Given the description of an element on the screen output the (x, y) to click on. 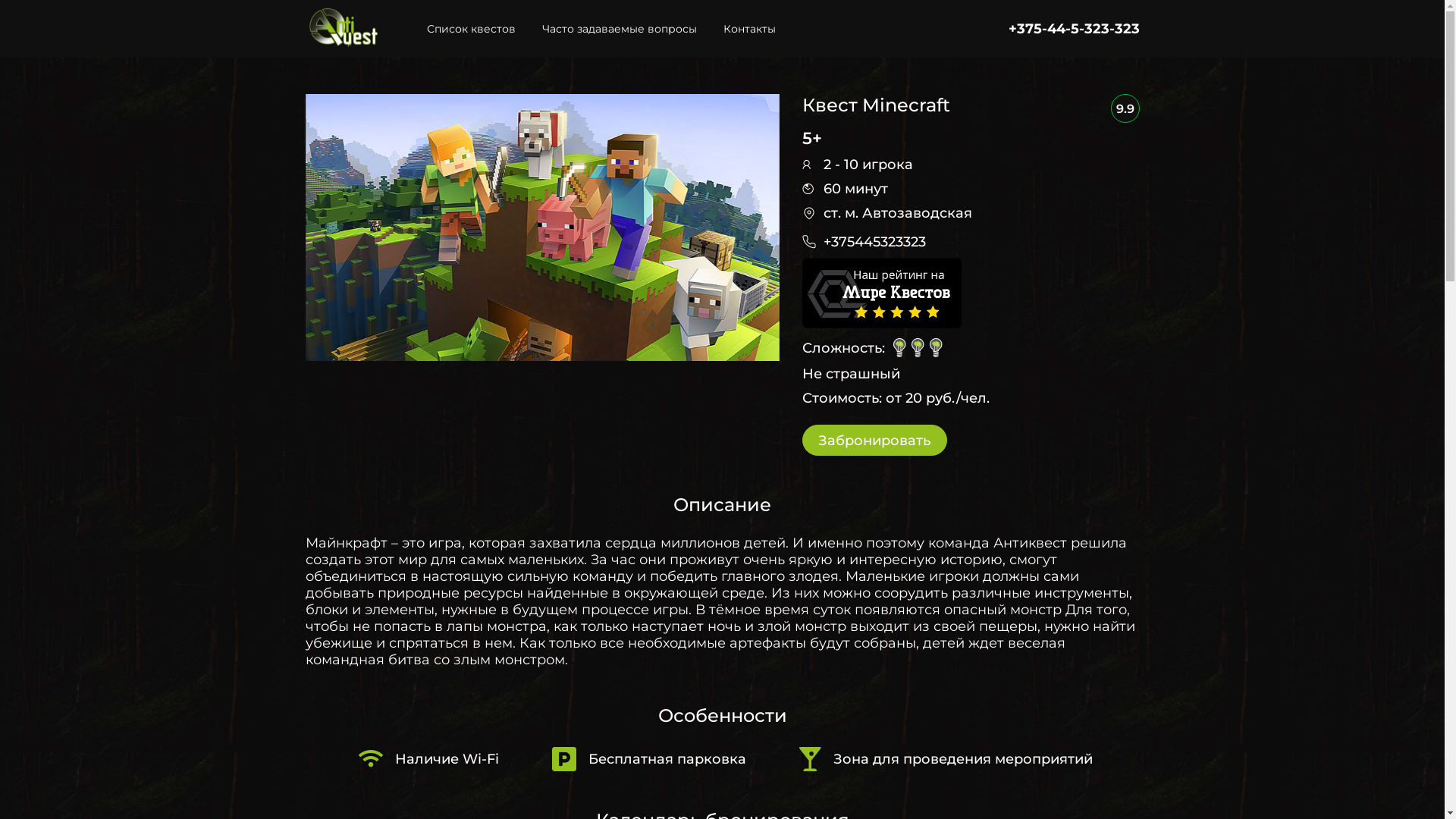
+375445323323 Element type: text (874, 241)
+375-44-5-323-323 Element type: text (1073, 28)
